Given the description of an element on the screen output the (x, y) to click on. 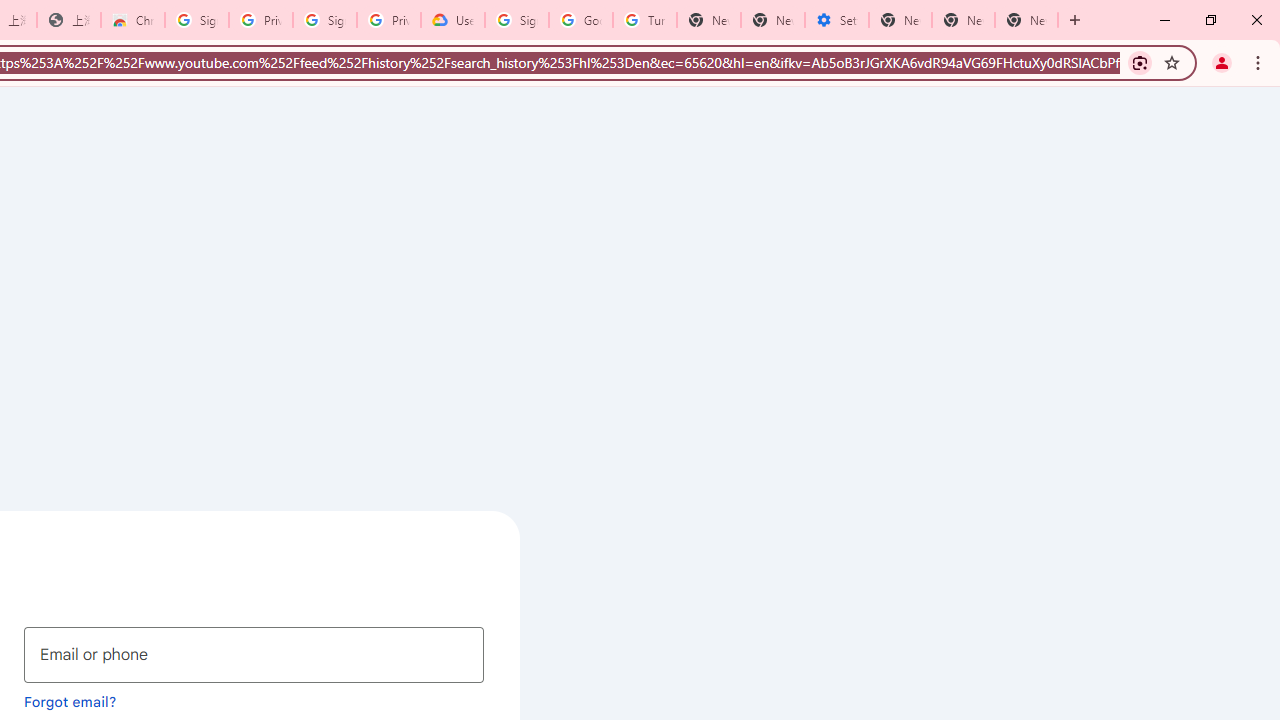
Google Account Help (581, 20)
Forgot email? (70, 701)
New Tab (1026, 20)
Turn cookies on or off - Computer - Google Account Help (645, 20)
New Tab (709, 20)
Sign in - Google Accounts (197, 20)
Email or phone (253, 654)
Settings - System (837, 20)
Search with Google Lens (1139, 62)
